Given the description of an element on the screen output the (x, y) to click on. 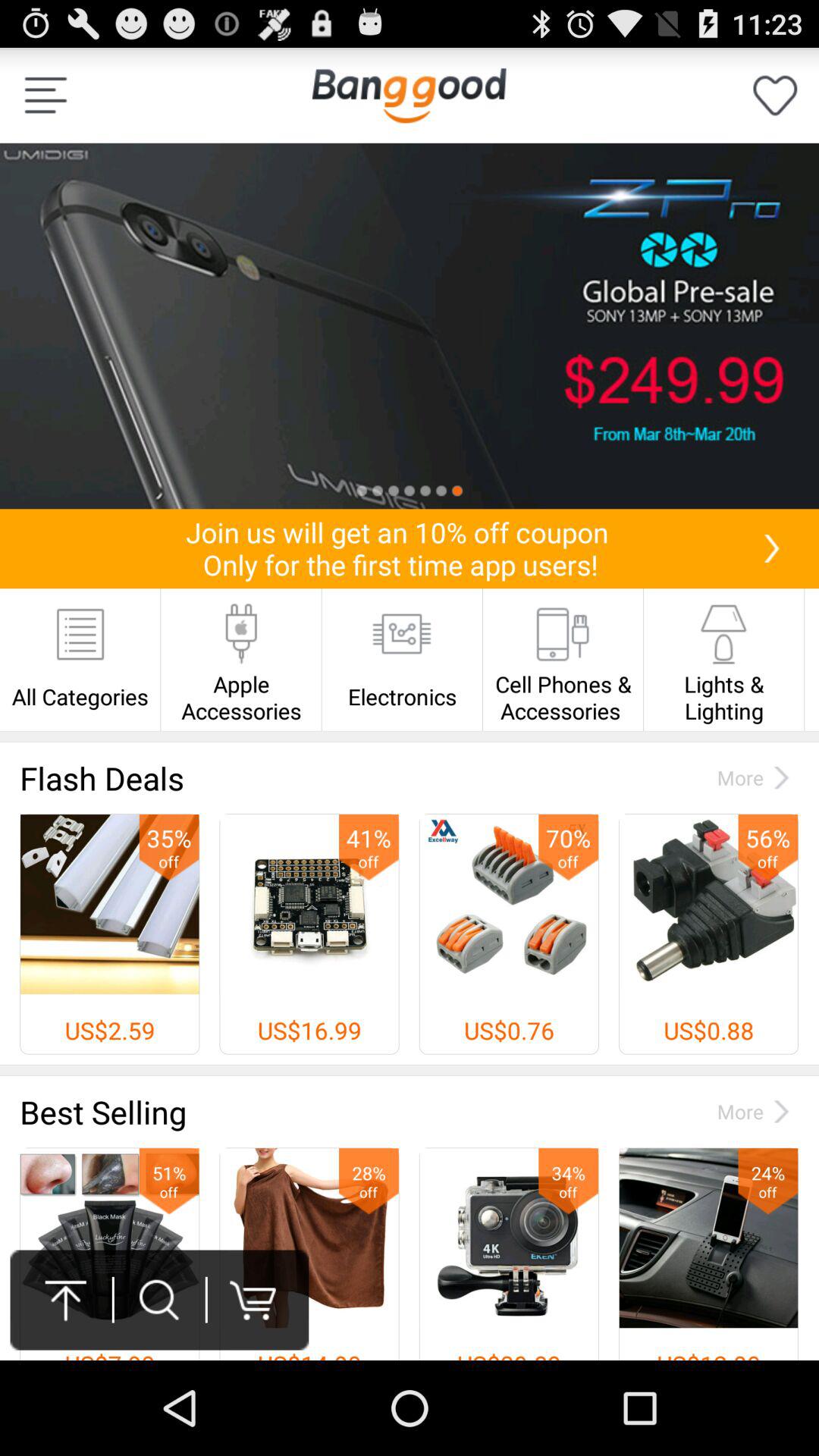
return home (409, 95)
